Given the description of an element on the screen output the (x, y) to click on. 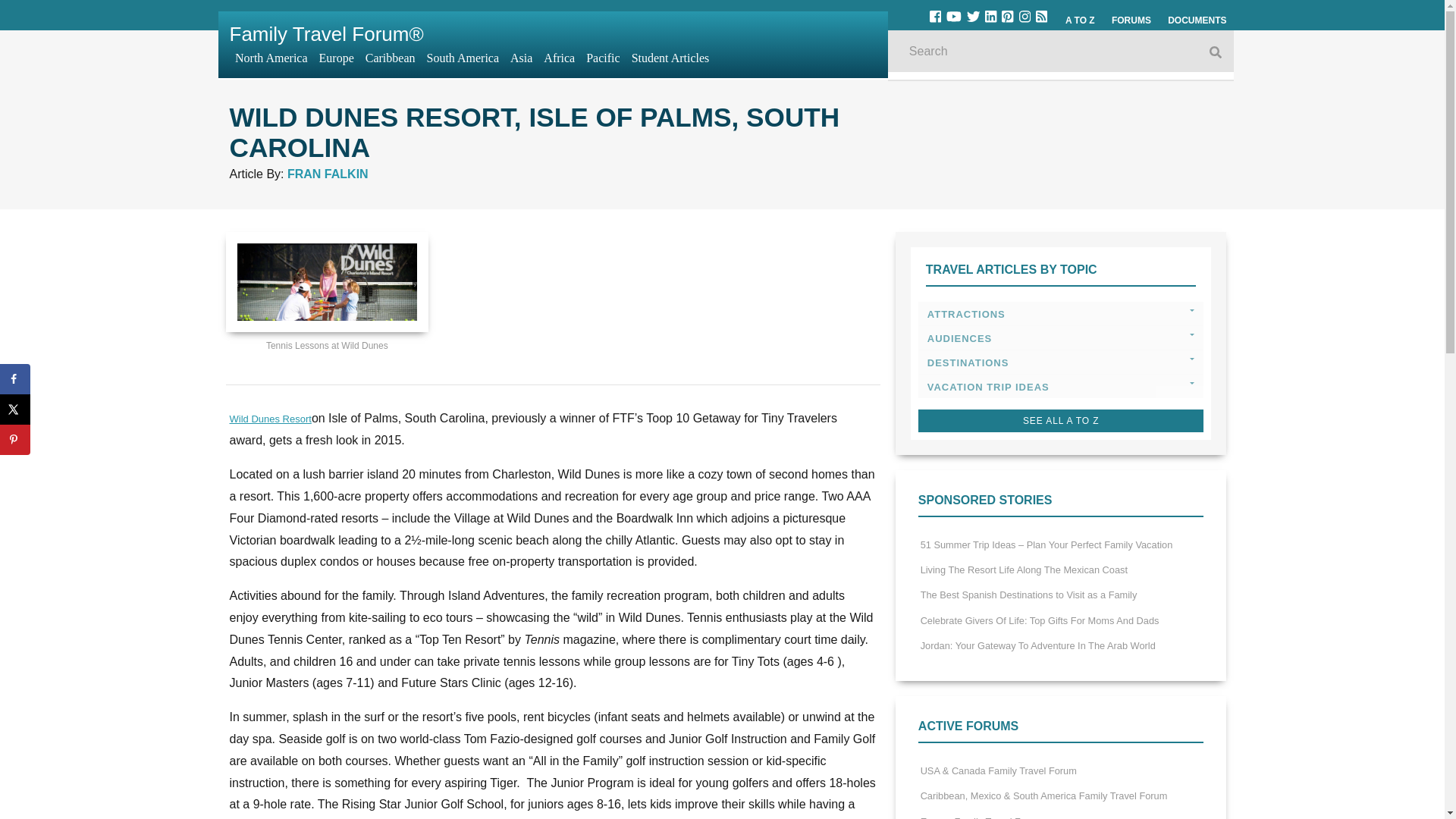
AUDIENCES (1061, 337)
DESTINATIONS (1061, 362)
ATTRACTIONS (1061, 313)
Forums (1131, 20)
FRAN FALKIN (327, 173)
Wild Dunes Resort (269, 419)
Travel Documents (1196, 20)
A to Z Links (1079, 20)
Family Travel Forum (325, 33)
